Given the description of an element on the screen output the (x, y) to click on. 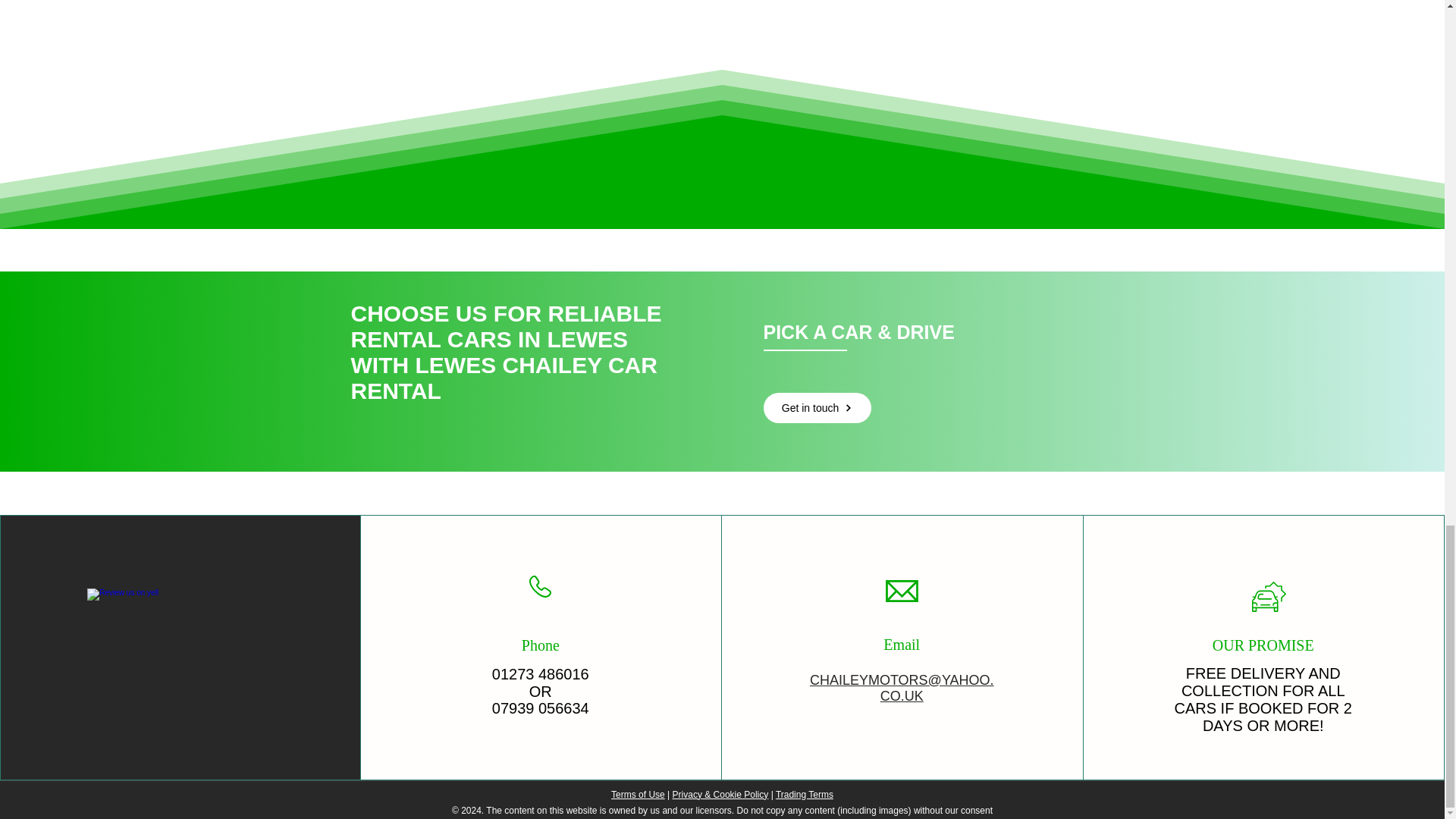
Get in touch (816, 407)
Terms of Use (638, 794)
Trading Terms (804, 794)
